Given the description of an element on the screen output the (x, y) to click on. 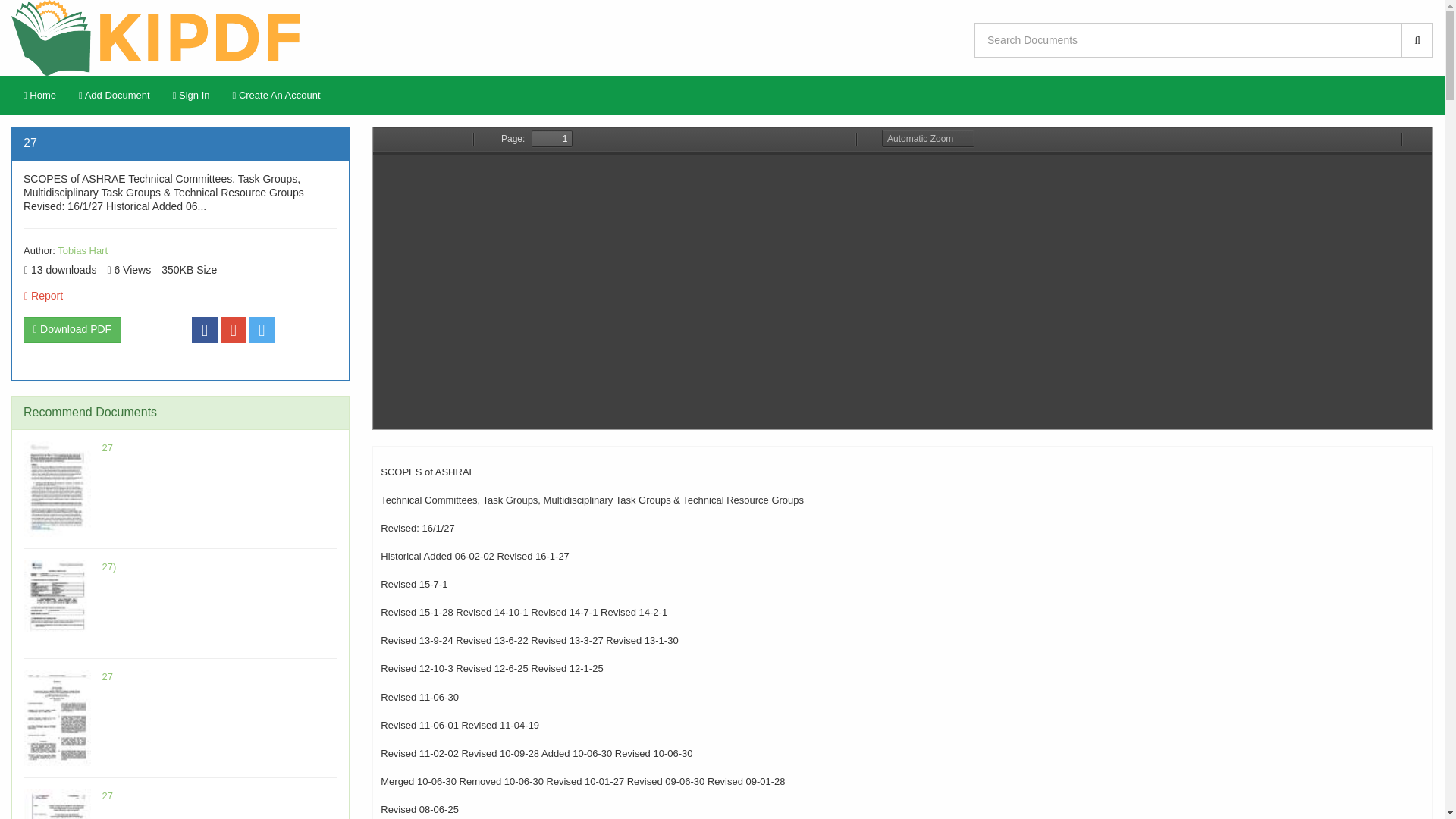
Tobias Hart (82, 250)
27 (107, 795)
Download PDF (71, 329)
27 (107, 447)
Sign In (191, 95)
Report (43, 295)
Add Document (113, 95)
27 (107, 676)
Create An Account (276, 95)
Home (38, 95)
